Given the description of an element on the screen output the (x, y) to click on. 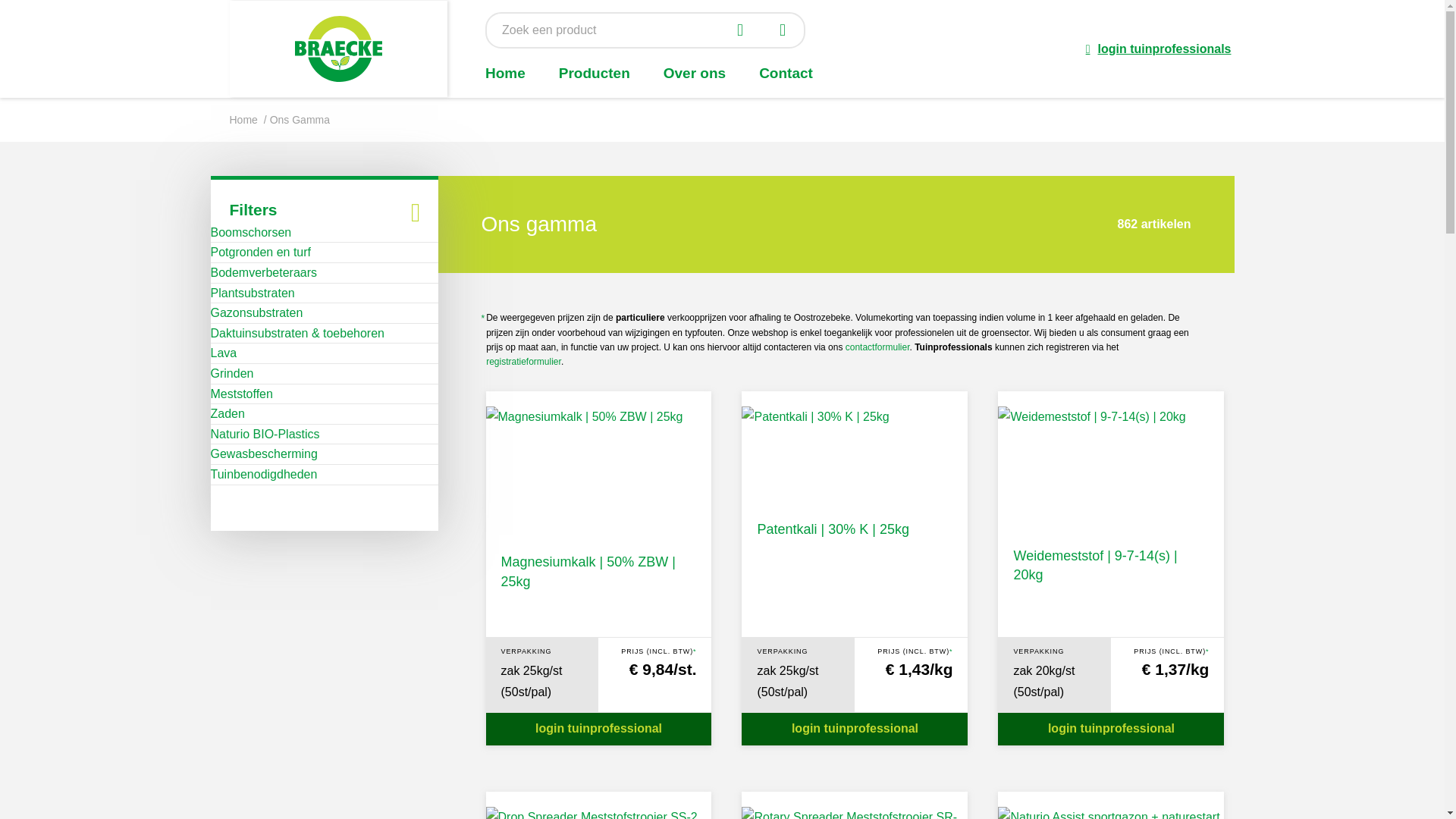
Apply Element type: text (786, 30)
login tuinprofessional Element type: text (598, 728)
Weidemeststof | 9-7-14(s) | 20kg Element type: text (1094, 565)
Potgronden en turf Element type: text (260, 252)
registratieformulier Element type: text (523, 361)
Reset Element type: text (744, 30)
Home Element type: text (505, 72)
Gazonsubstraten Element type: text (256, 313)
Tuinbenodigdheden Element type: text (263, 474)
Daktuinsubstraten & toebehoren Element type: text (297, 333)
Contact Element type: text (785, 72)
Meststoffen Element type: text (241, 394)
Producten Element type: text (594, 72)
Gewasbescherming Element type: text (263, 454)
Zaden Element type: text (227, 413)
Patentkali | 30% K | 25kg Element type: text (832, 528)
Grinden Element type: text (232, 373)
Lava Element type: text (223, 353)
Overslaan en naar de inhoud gaan Element type: text (0, 0)
Naturio BIO-Plastics Element type: text (265, 434)
login tuinprofessional Element type: text (854, 728)
Boomschorsen Element type: text (250, 232)
login tuinprofessional Element type: text (1110, 728)
Home Element type: text (243, 119)
login tuinprofessionals Element type: text (1158, 48)
Bodemverbeteraars Element type: text (263, 272)
contactformulier Element type: text (877, 347)
Magnesiumkalk | 50% ZBW | 25kg Element type: text (587, 571)
Over ons Element type: text (694, 72)
Plantsubstraten Element type: text (252, 293)
